Given the description of an element on the screen output the (x, y) to click on. 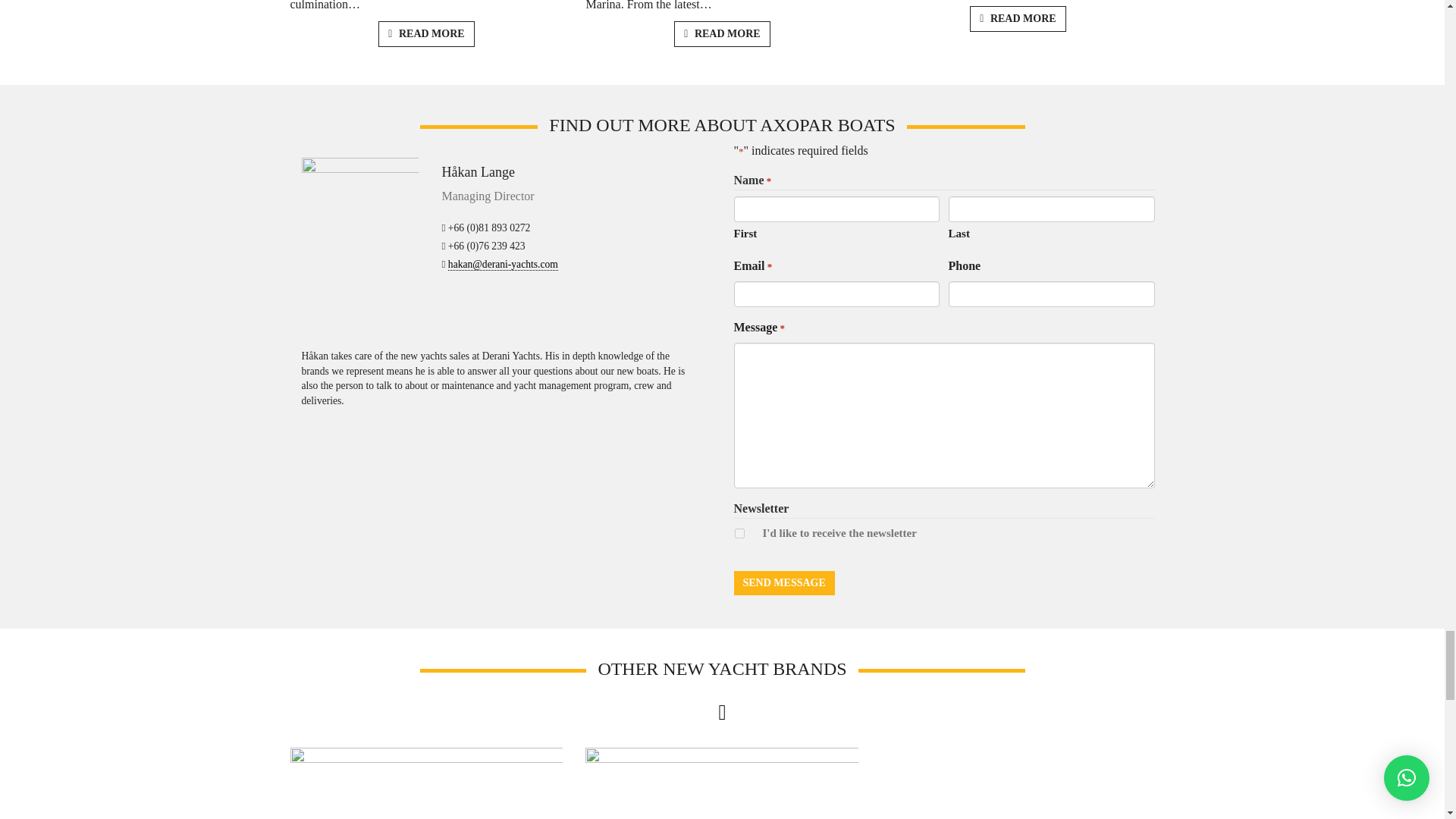
I'd like to receive the newsletter (738, 533)
Send Message (783, 582)
